Given the description of an element on the screen output the (x, y) to click on. 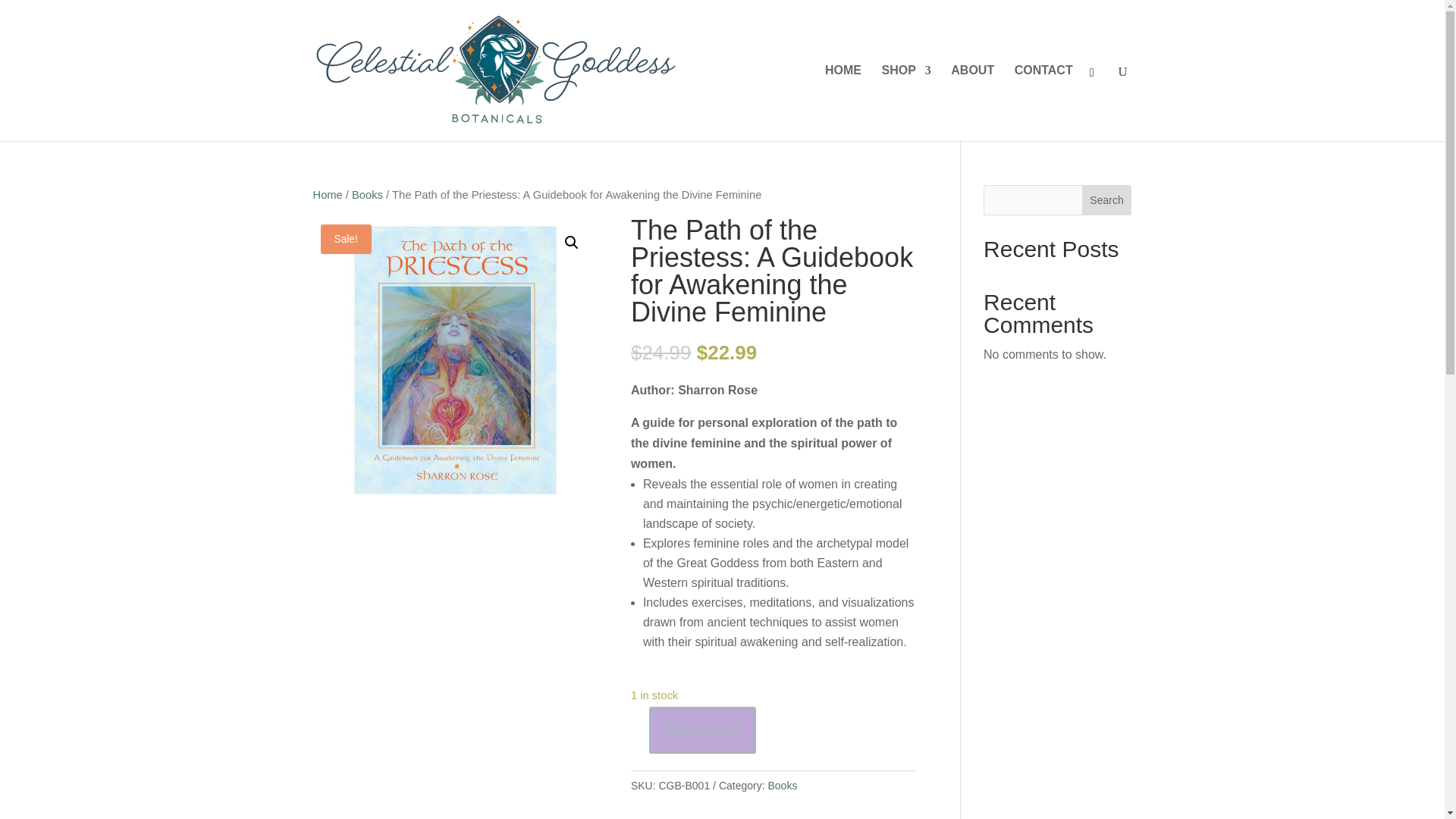
Product-Images-The-Path-of-The-Priestess (454, 359)
Books (781, 785)
Add to cart (702, 730)
Home (327, 194)
Search (1106, 200)
Books (367, 194)
